Given the description of an element on the screen output the (x, y) to click on. 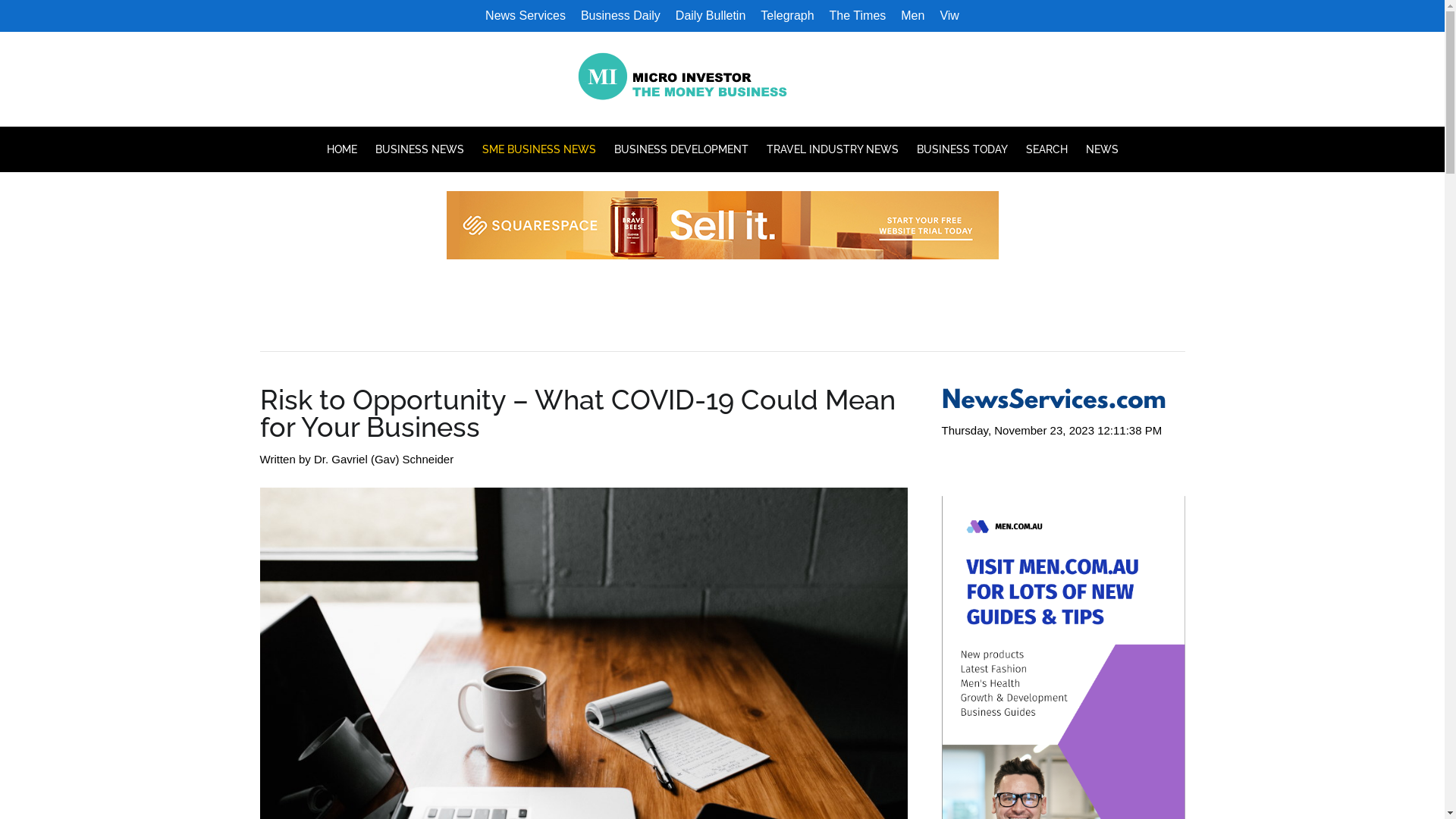
Daily Bulletin Element type: text (710, 15)
NEWS Element type: text (1097, 149)
BUSINESS NEWS Element type: text (418, 149)
TRAVEL INDUSTRY NEWS Element type: text (831, 149)
SME BUSINESS NEWS Element type: text (539, 149)
HOME Element type: text (345, 149)
Telegraph Element type: text (786, 15)
News Services Element type: text (525, 15)
Business Daily Element type: text (620, 15)
Men Element type: text (912, 15)
The Times Element type: text (857, 15)
SEARCH Element type: text (1046, 149)
Viw Element type: text (949, 15)
BUSINESS TODAY Element type: text (961, 149)
BUSINESS DEVELOPMENT Element type: text (681, 149)
